Given the description of an element on the screen output the (x, y) to click on. 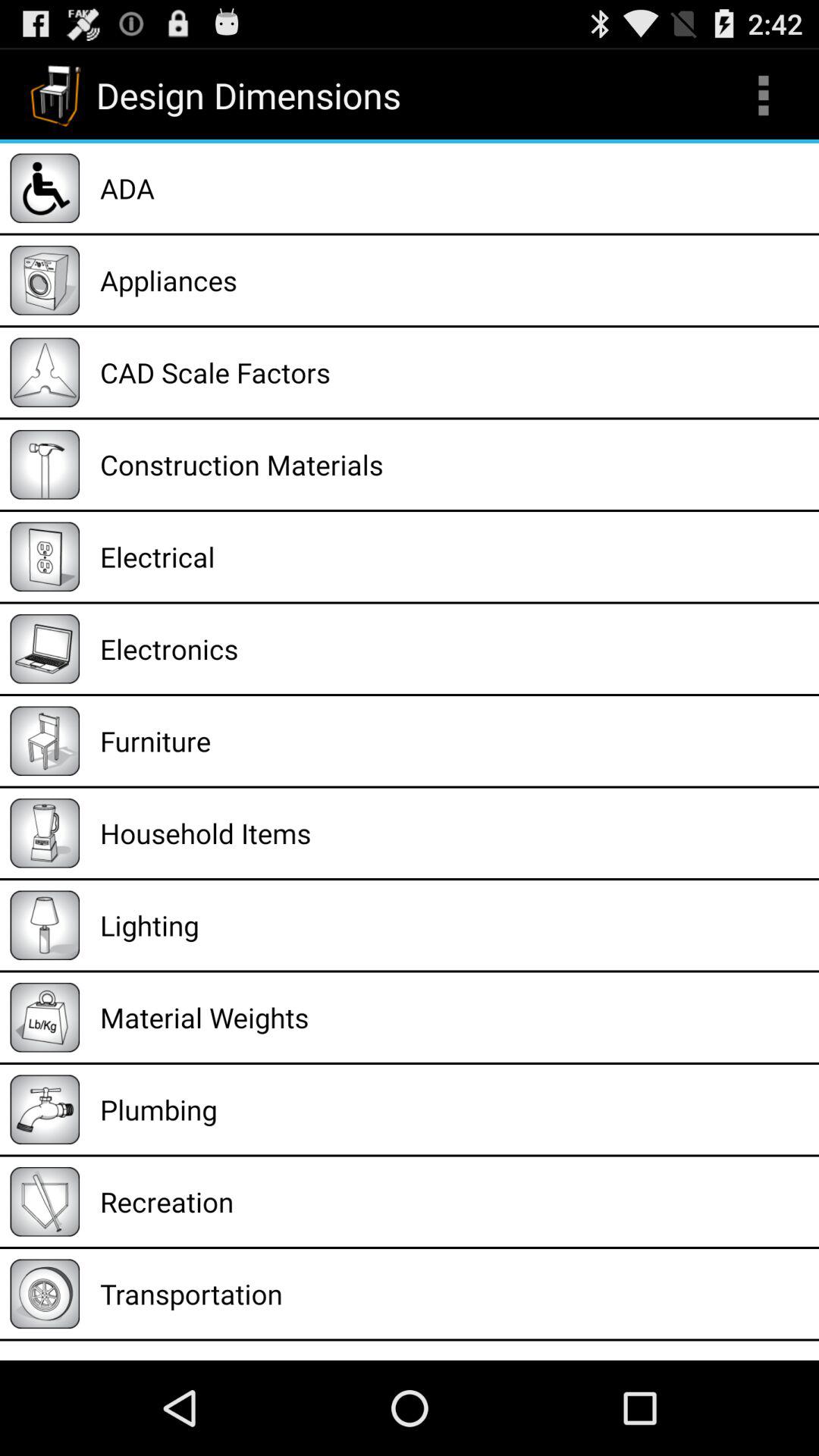
open plumbing app (454, 1109)
